Given the description of an element on the screen output the (x, y) to click on. 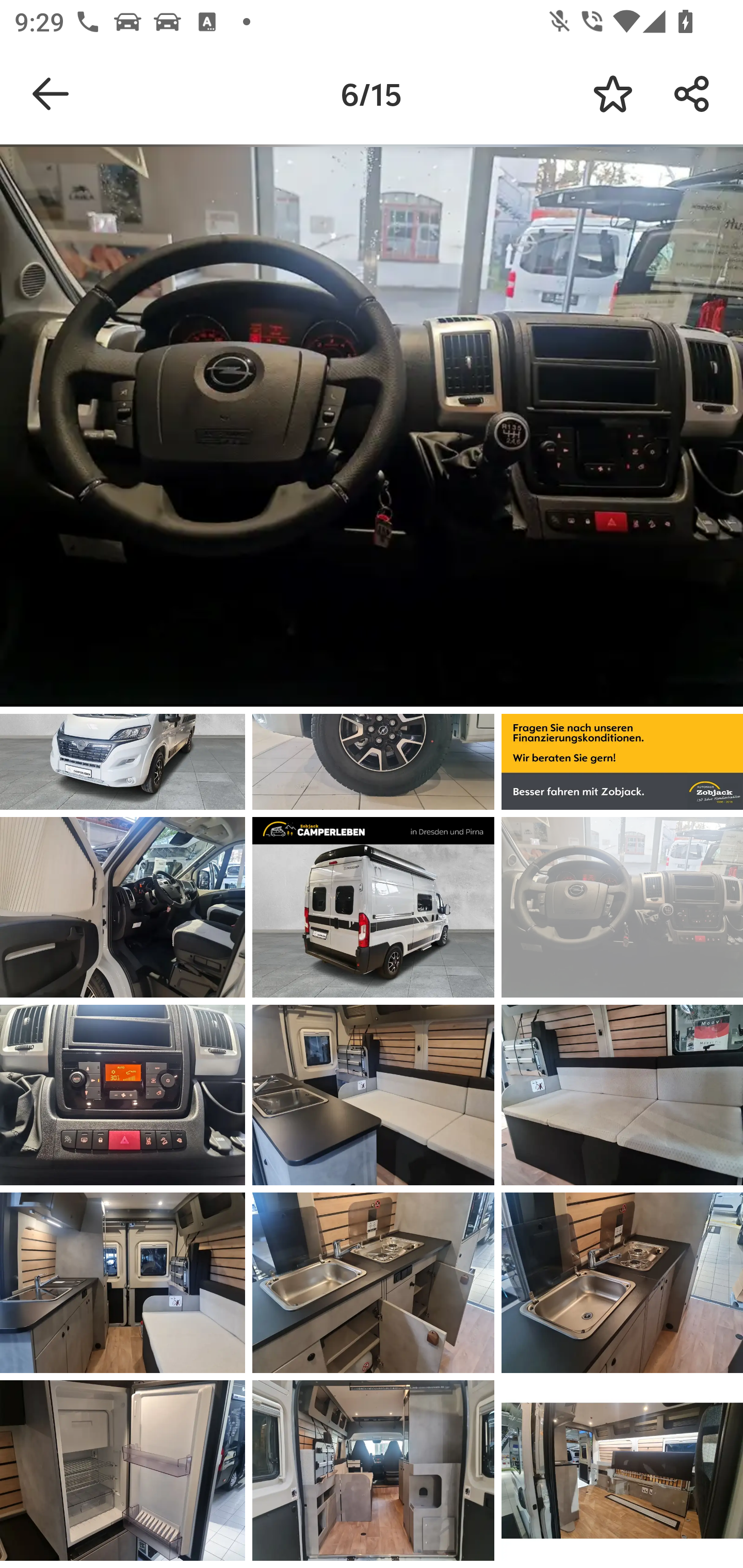
back button (50, 93)
share button (692, 93)
main image view (371, 428)
image (122, 906)
image (373, 906)
image (622, 906)
image (122, 1095)
image (373, 1095)
image (622, 1095)
image (122, 1283)
image (373, 1283)
image (622, 1283)
image (122, 1469)
image (373, 1469)
image (622, 1469)
